Given the description of an element on the screen output the (x, y) to click on. 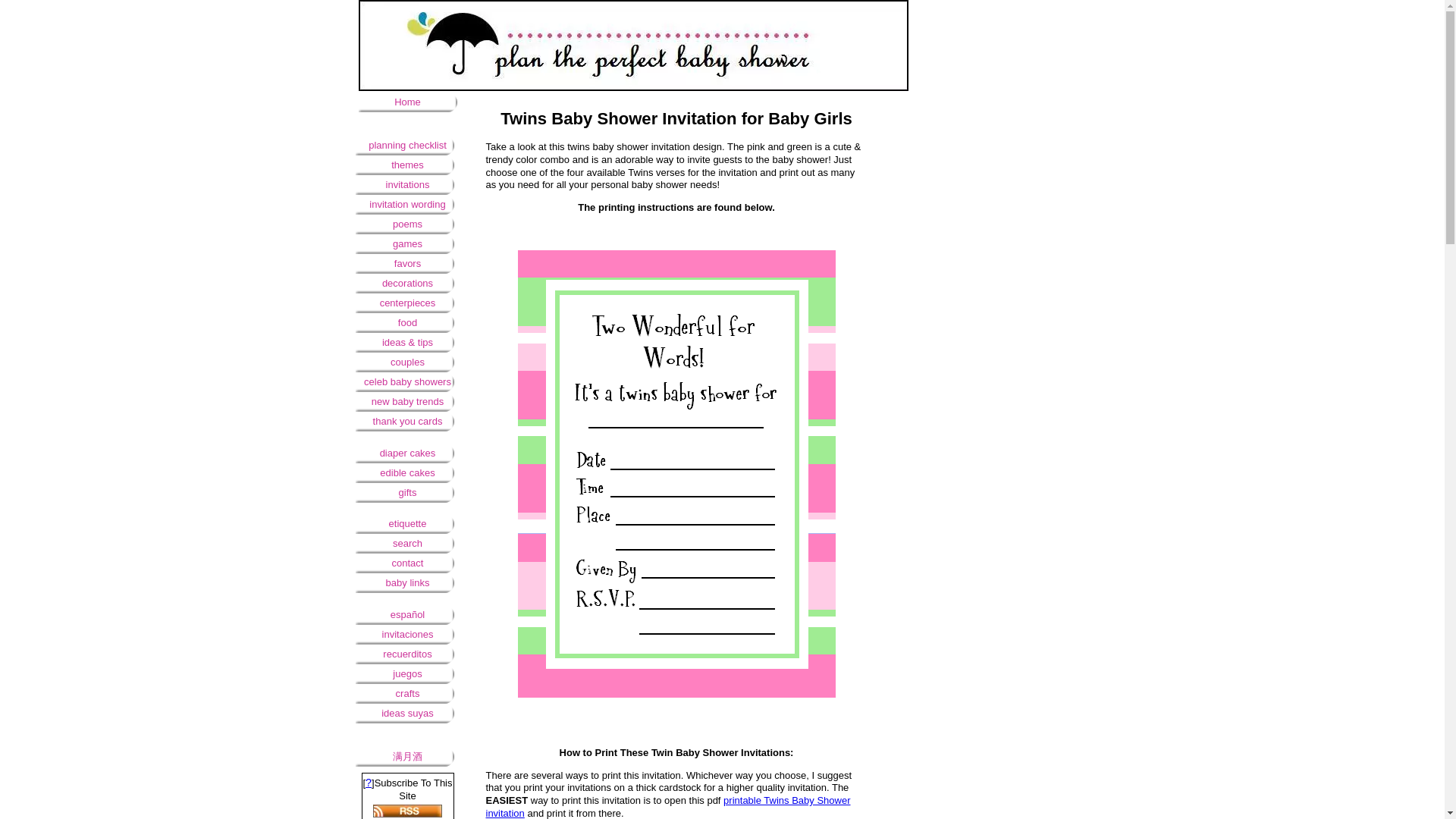
ideas suyas (407, 713)
juegos (407, 673)
games (407, 243)
food (407, 322)
couples (407, 362)
favors (407, 263)
themes (407, 165)
edible cakes (407, 473)
decorations (407, 283)
Home (407, 102)
